Given the description of an element on the screen output the (x, y) to click on. 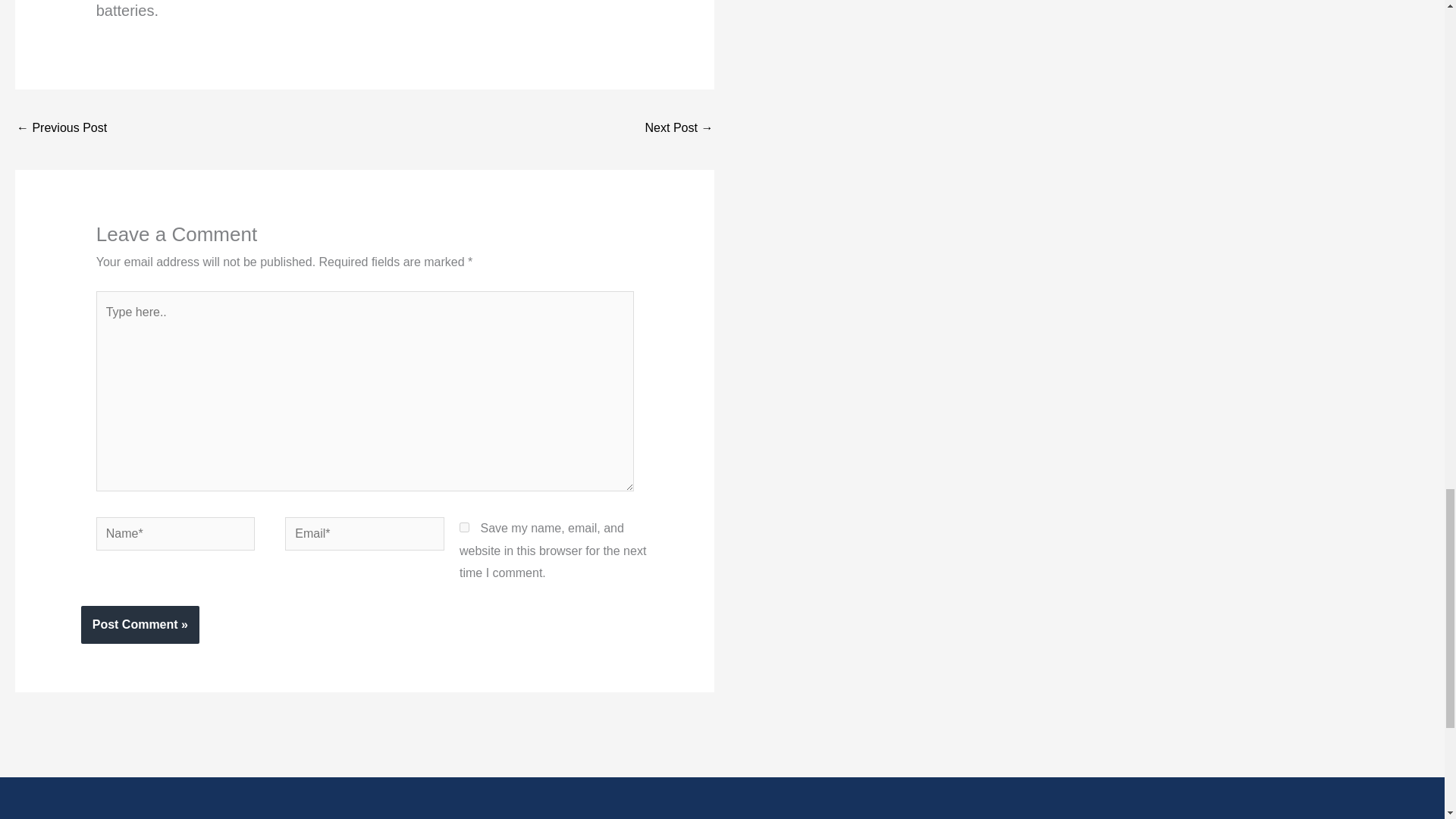
yes (464, 527)
Marine Starter Batteries And Deep Cycle Marine Batteries (61, 129)
